Given the description of an element on the screen output the (x, y) to click on. 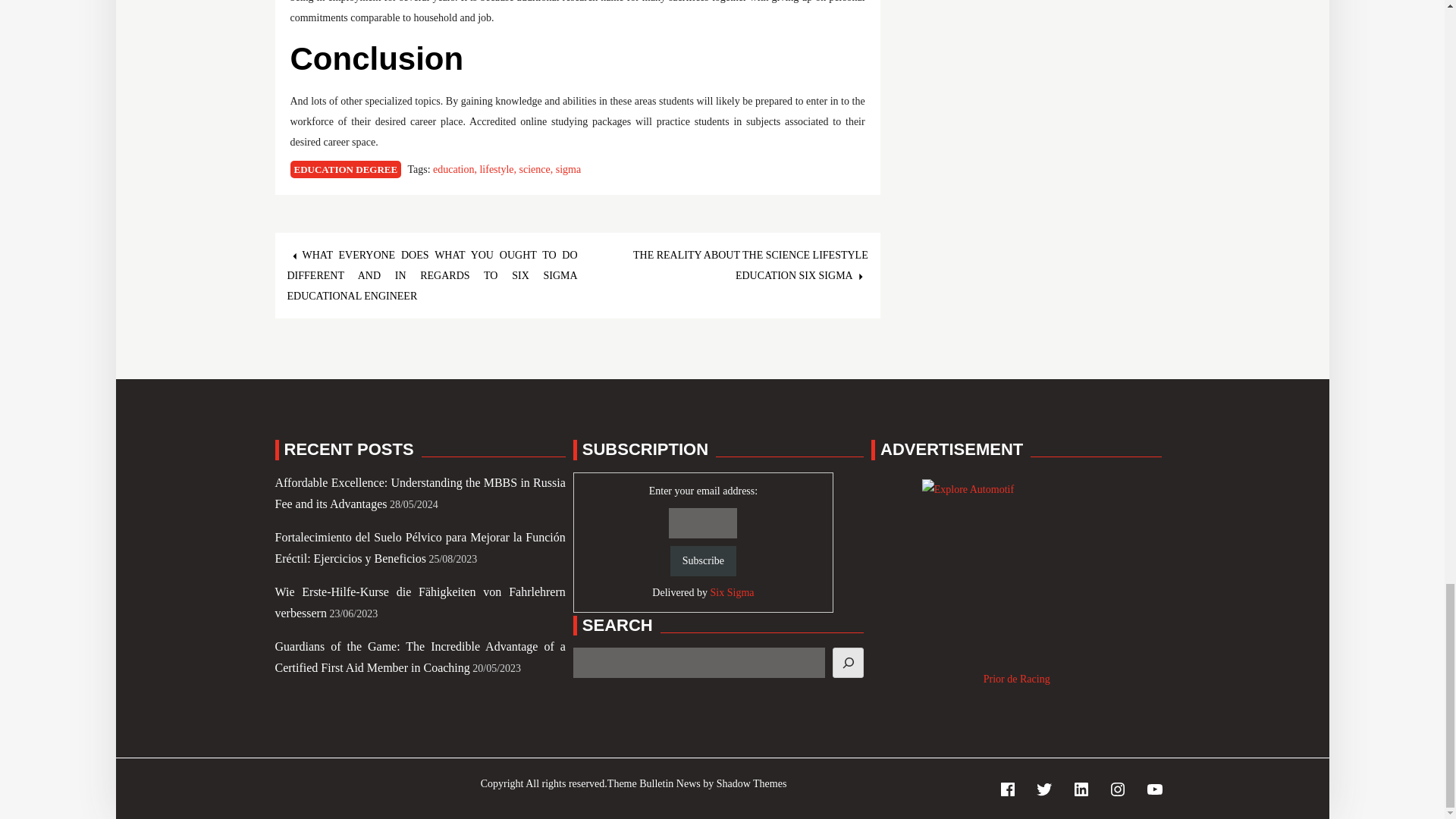
Subscribe (702, 561)
education (455, 169)
science (537, 169)
Explore Automotif (1016, 574)
THE REALITY ABOUT THE SCIENCE LIFESTYLE EDUCATION SIX SIGMA (750, 265)
lifestyle (498, 169)
sigma (568, 169)
EDUCATION DEGREE (345, 169)
